Given the description of an element on the screen output the (x, y) to click on. 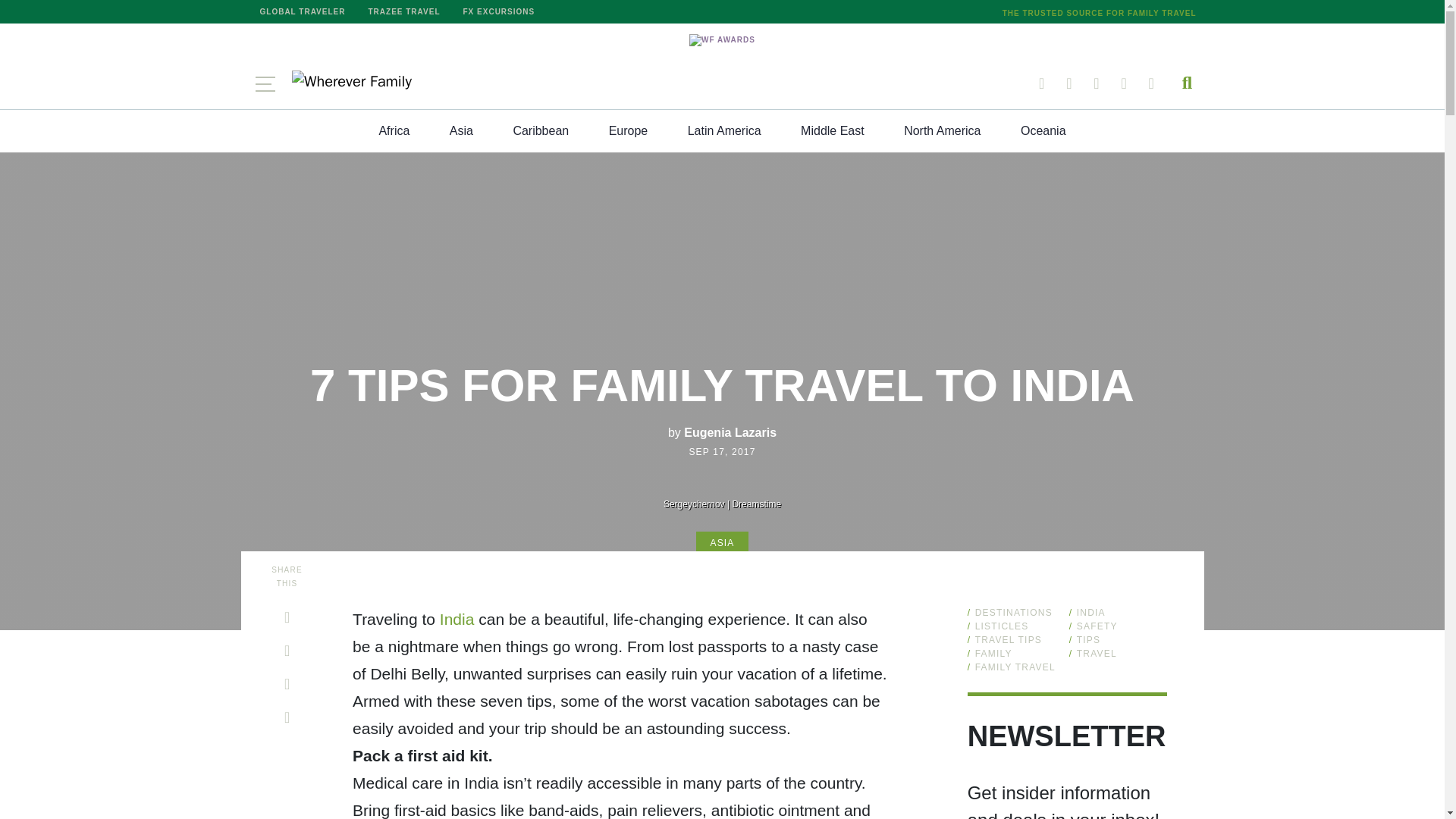
FX EXCURSIONS (499, 11)
TRAZEE TRAVEL (403, 11)
GLOBAL TRAVELER (302, 11)
Africa (393, 130)
